Given the description of an element on the screen output the (x, y) to click on. 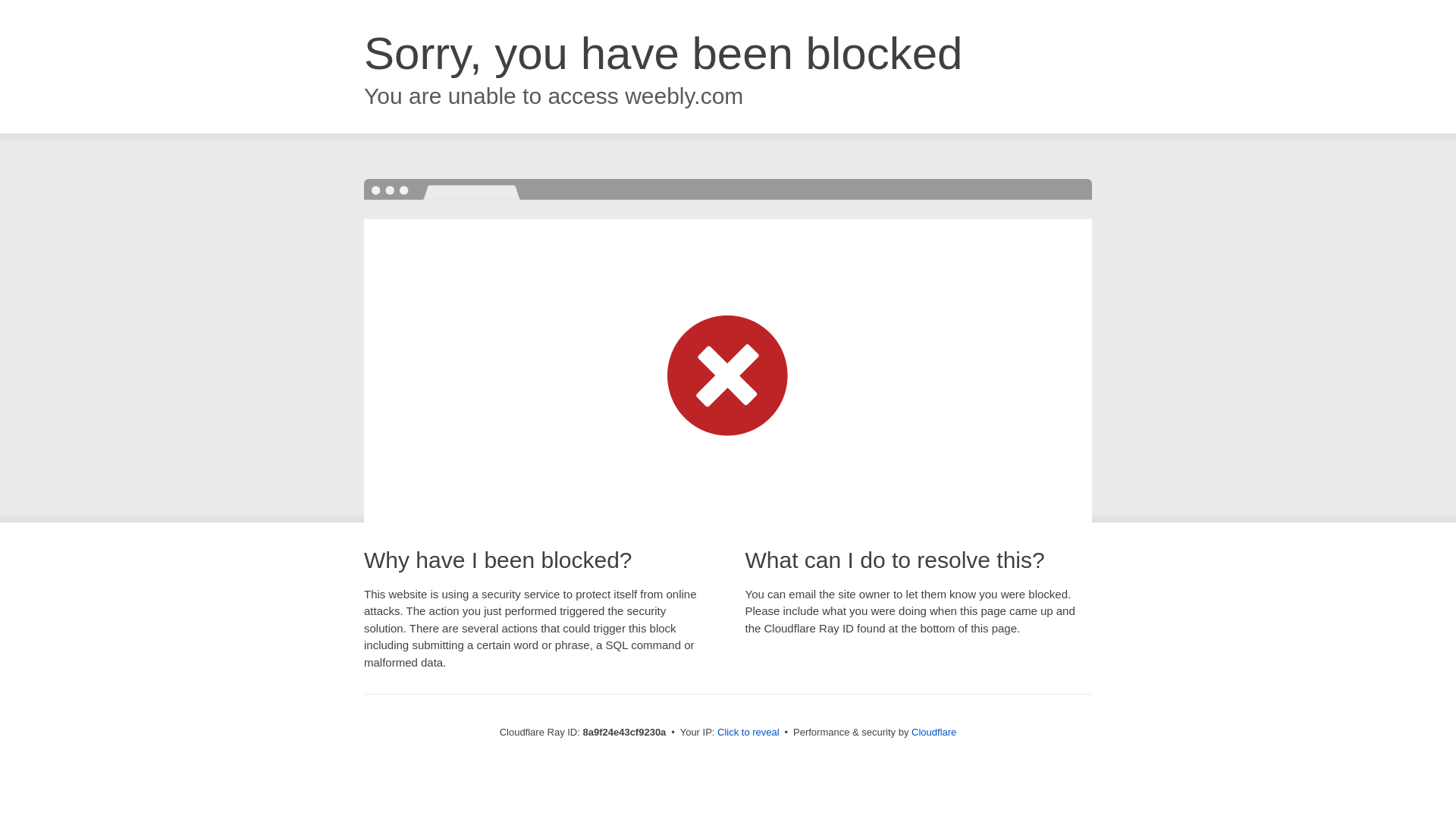
Cloudflare (933, 731)
Click to reveal (747, 732)
